Given the description of an element on the screen output the (x, y) to click on. 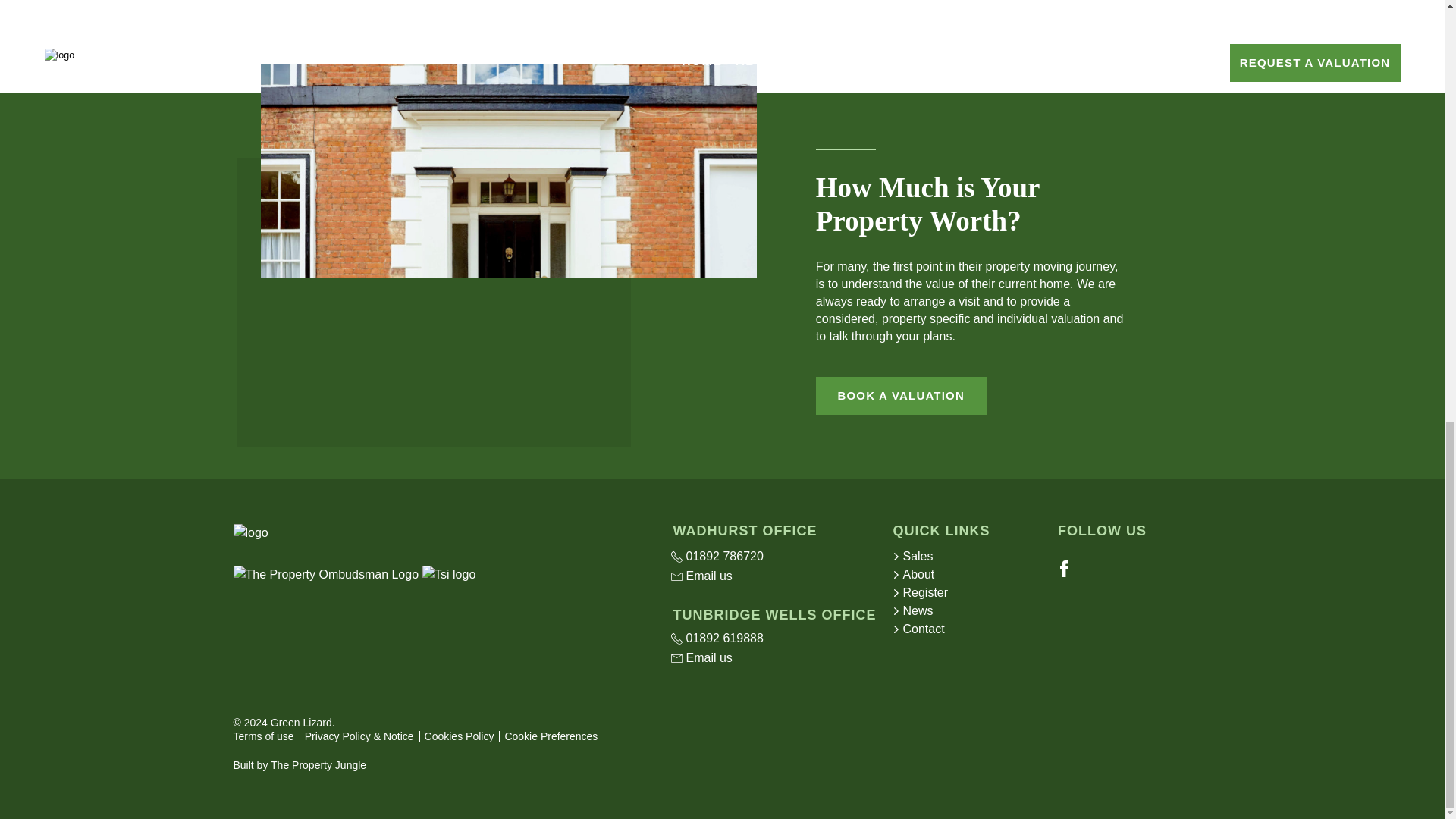
News (969, 610)
BOOK A VALUATION (901, 395)
01892 786720 (771, 556)
01892 619888 (771, 638)
About (969, 574)
Cookie Preferences (549, 736)
Email us (771, 658)
Register (969, 592)
Cookies Policy (460, 736)
Sales (969, 556)
Terms of use (263, 736)
Email us (771, 576)
Contact (969, 628)
